Given the description of an element on the screen output the (x, y) to click on. 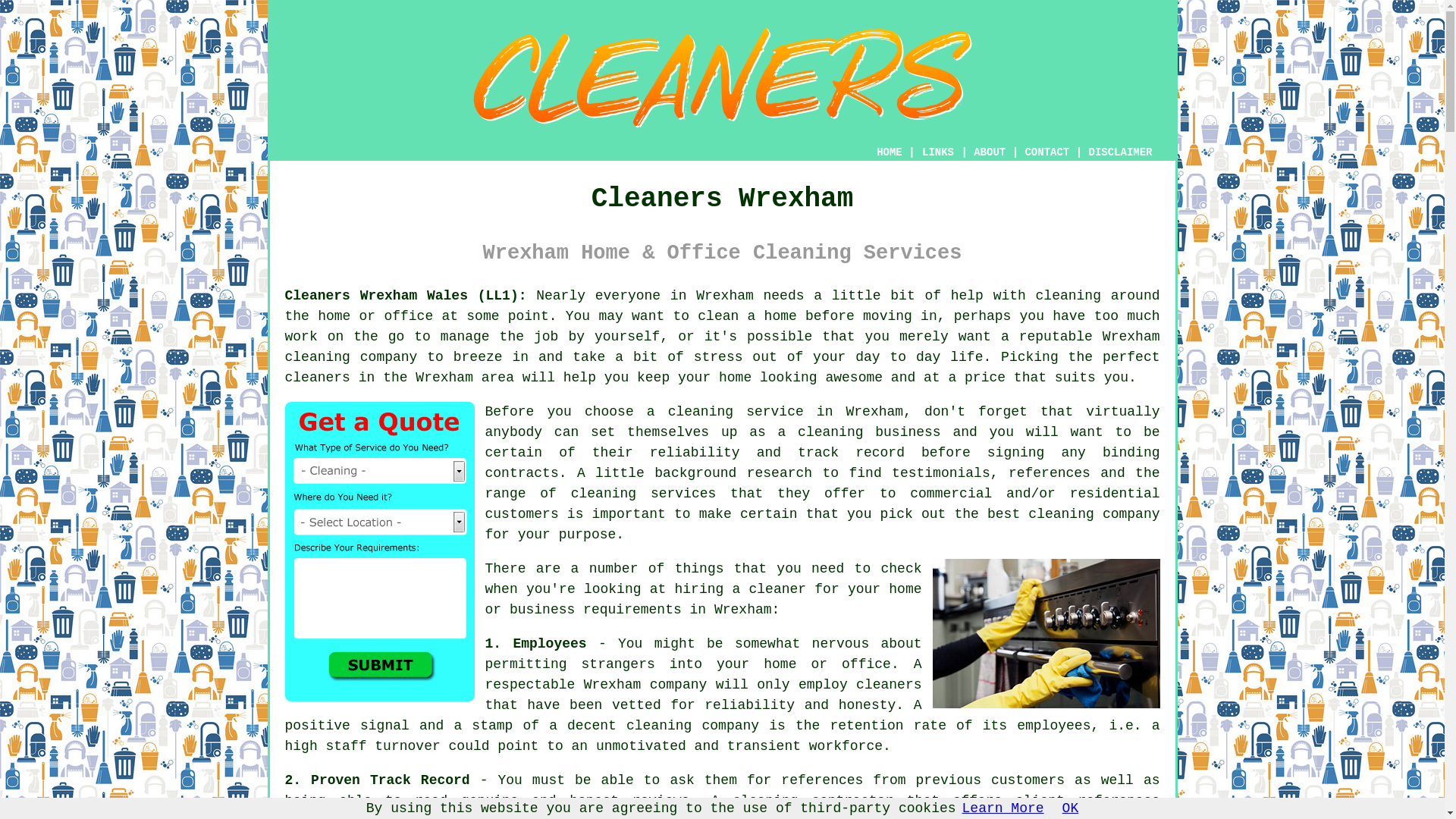
cleaning (830, 432)
Cleaners Wrexham (722, 77)
LINKS (938, 151)
HOME (889, 152)
cleaners (317, 377)
